Given the description of an element on the screen output the (x, y) to click on. 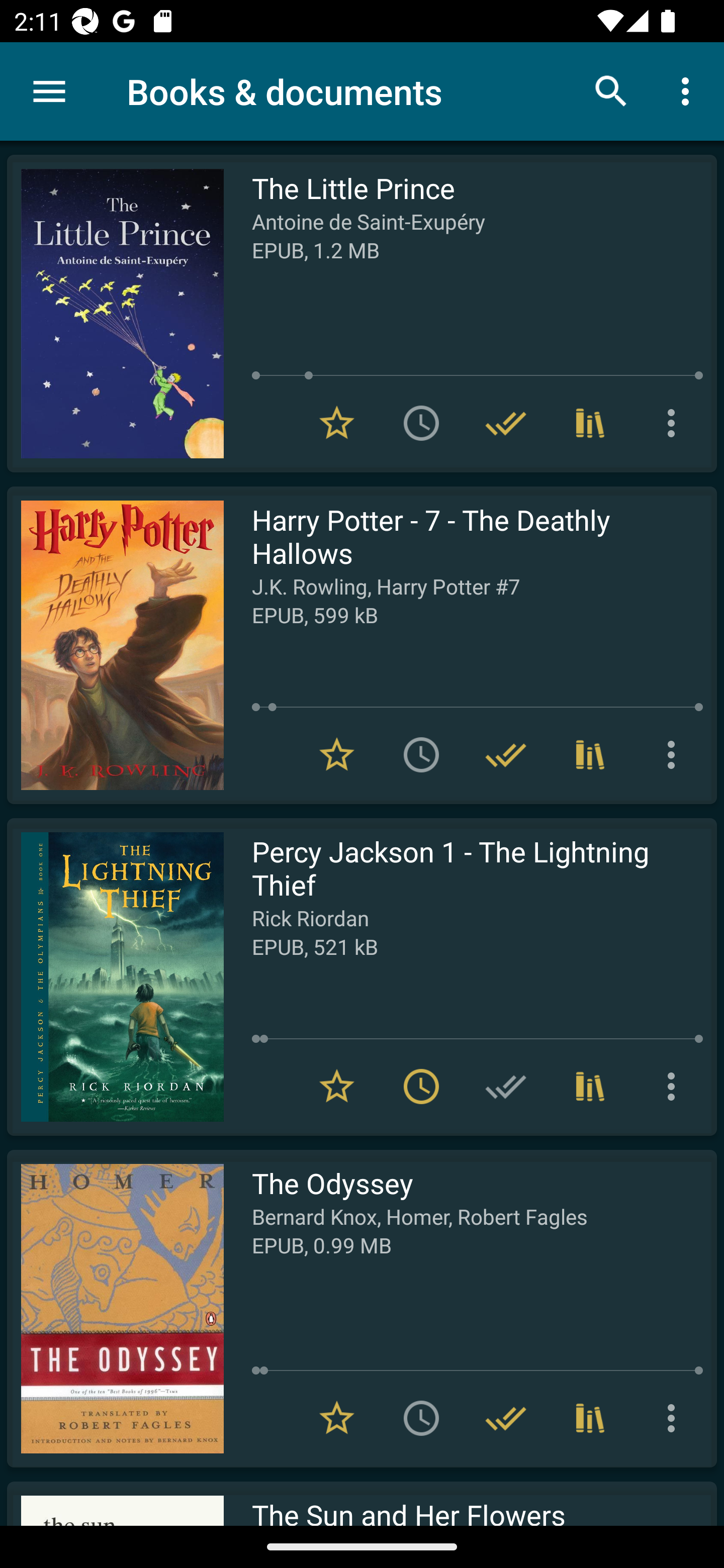
Menu (49, 91)
Search books & documents (611, 90)
More options (688, 90)
Read The Little Prince (115, 313)
Remove from Favorites (336, 423)
Add to To read (421, 423)
Remove from Have read (505, 423)
Collections (1) (590, 423)
More options (674, 423)
Read Harry Potter - 7 - The Deathly Hallows (115, 645)
Remove from Favorites (336, 753)
Add to To read (421, 753)
Remove from Have read (505, 753)
Collections (3) (590, 753)
More options (674, 753)
Read Percy Jackson 1 - The Lightning Thief (115, 976)
Remove from Favorites (336, 1086)
Remove from To read (421, 1086)
Add to Have read (505, 1086)
Collections (1) (590, 1086)
More options (674, 1086)
Read The Odyssey (115, 1308)
Remove from Favorites (336, 1417)
Add to To read (421, 1417)
Remove from Have read (505, 1417)
Collections (3) (590, 1417)
More options (674, 1417)
